Given the description of an element on the screen output the (x, y) to click on. 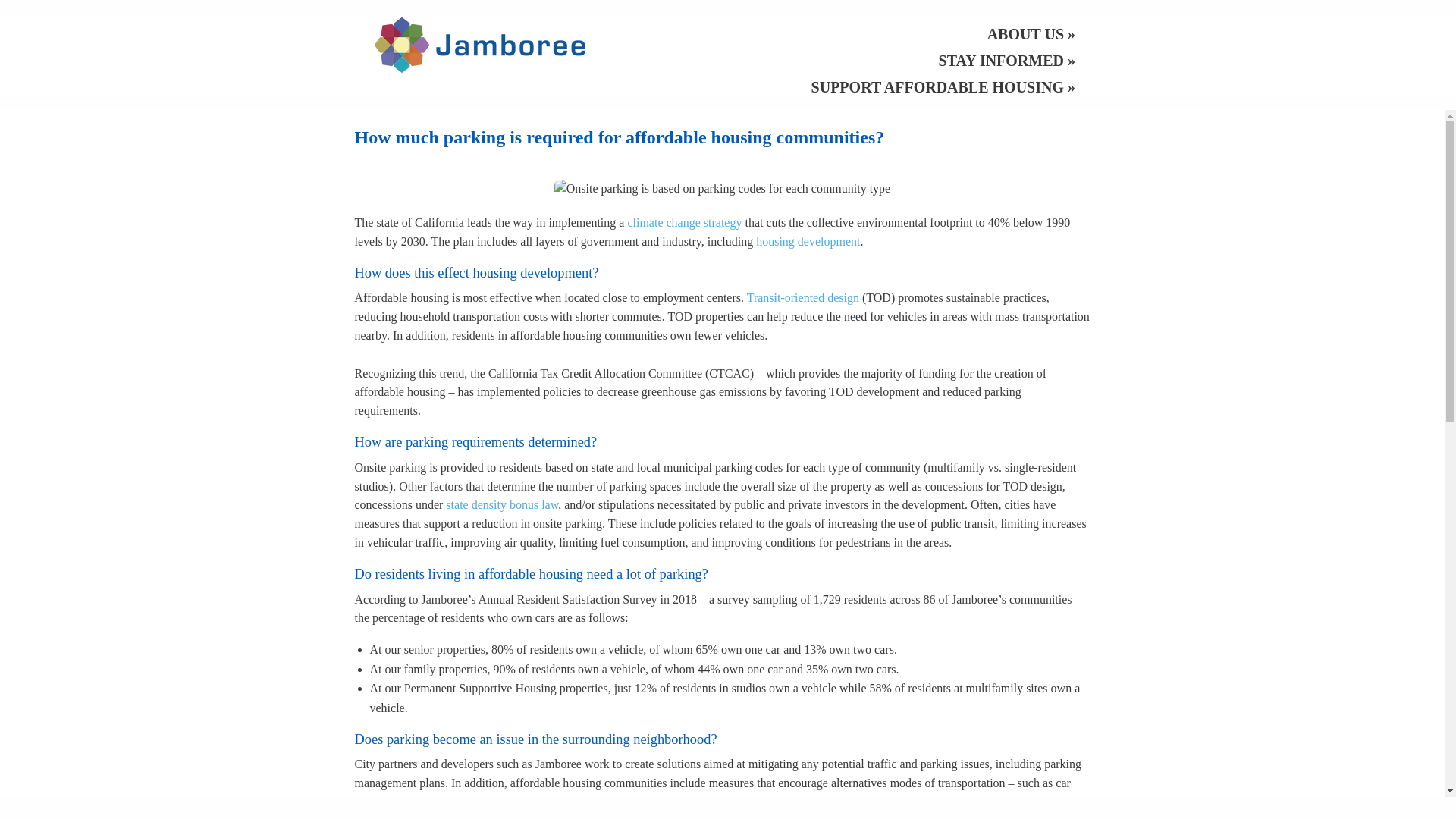
state density bonus law (501, 504)
climate change strategy (684, 222)
Jamboree Housing Corporation (479, 42)
Transit-oriented design (802, 297)
housing development (807, 241)
